Given the description of an element on the screen output the (x, y) to click on. 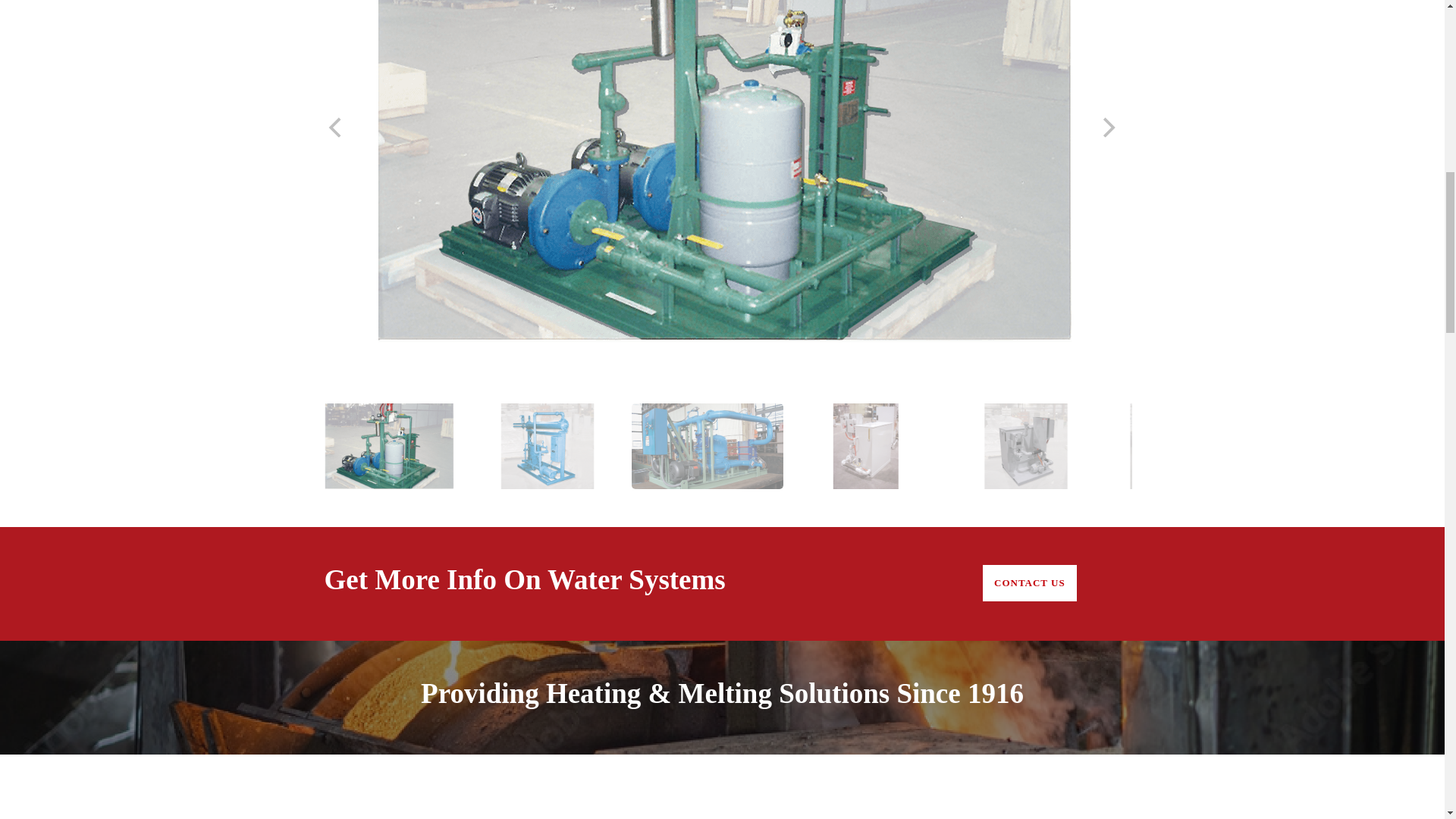
CONTACT US (1029, 583)
